Given the description of an element on the screen output the (x, y) to click on. 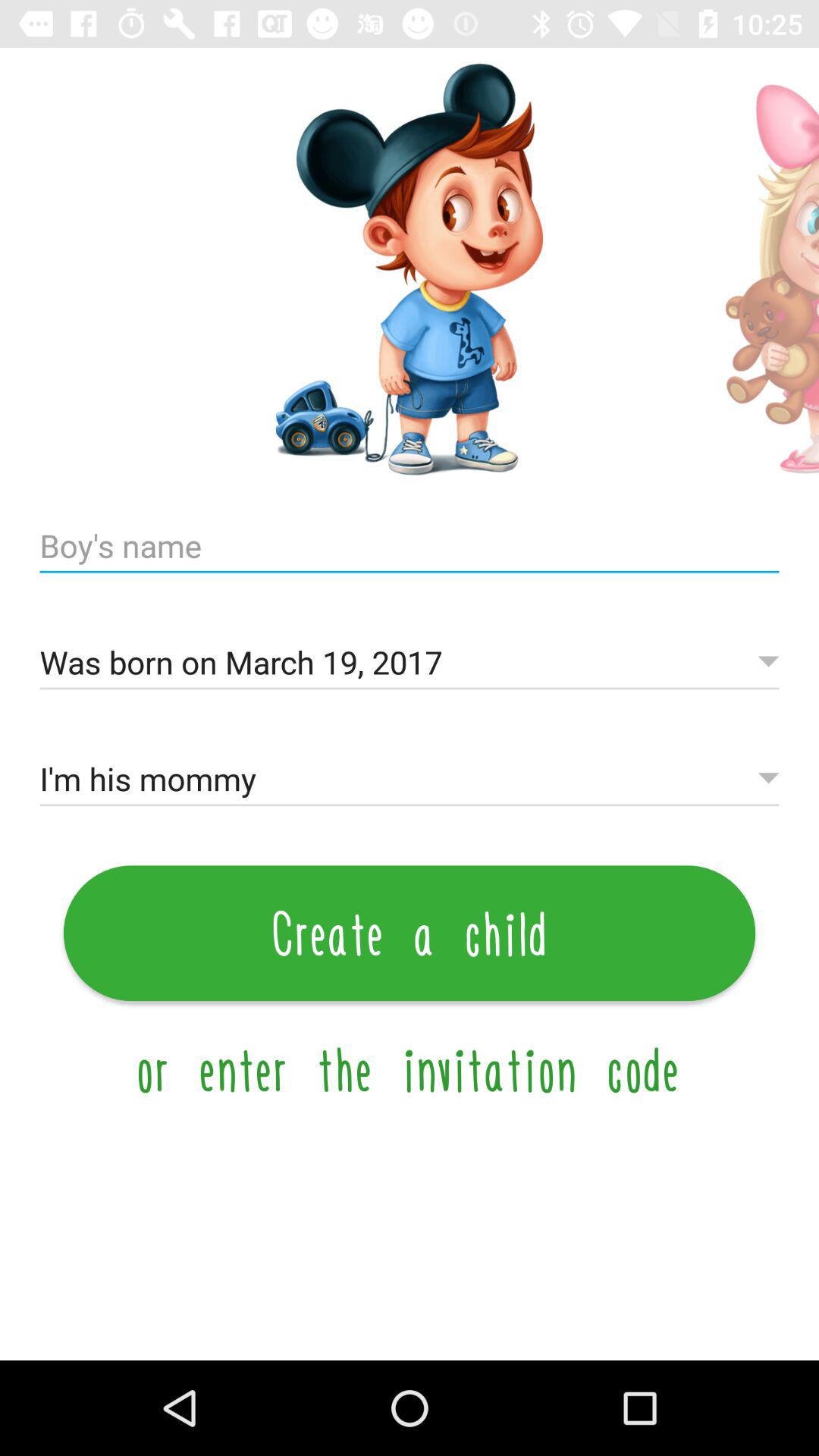
scroll until the i m his item (409, 779)
